Given the description of an element on the screen output the (x, y) to click on. 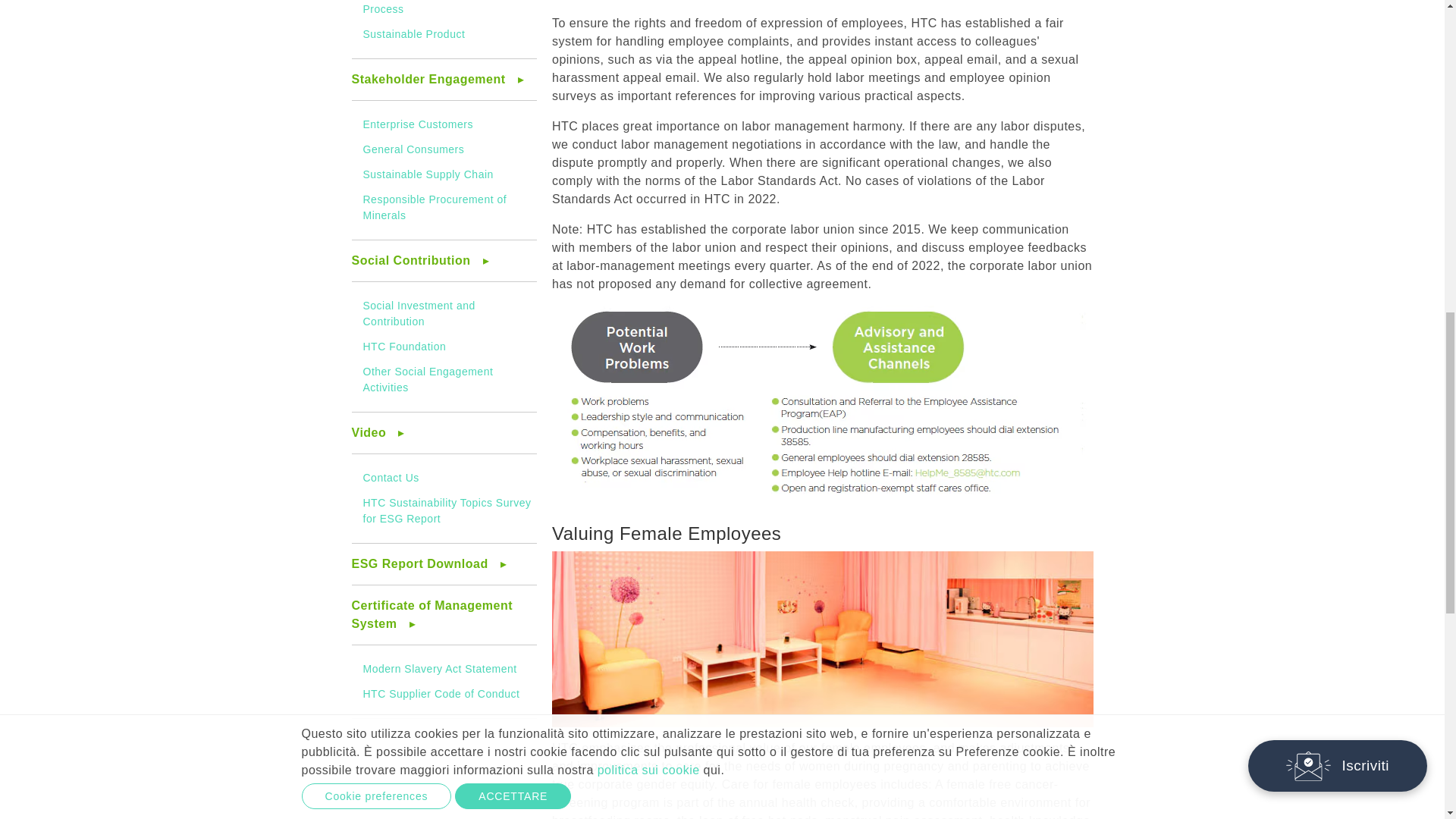
Sustainable Product (413, 33)
Sustainable Product (413, 33)
Social Contribution (444, 266)
Stakeholder Engagement (444, 85)
Sustainable Supply Chain (427, 174)
Sustainable Manufacturing Process (429, 7)
Responsible Procurement of Minerals (434, 207)
Enterprise Customers (416, 123)
General Consumers (413, 149)
Sustainable Manufacturing Process (429, 7)
Enterprise Customers  (416, 123)
